Given the description of an element on the screen output the (x, y) to click on. 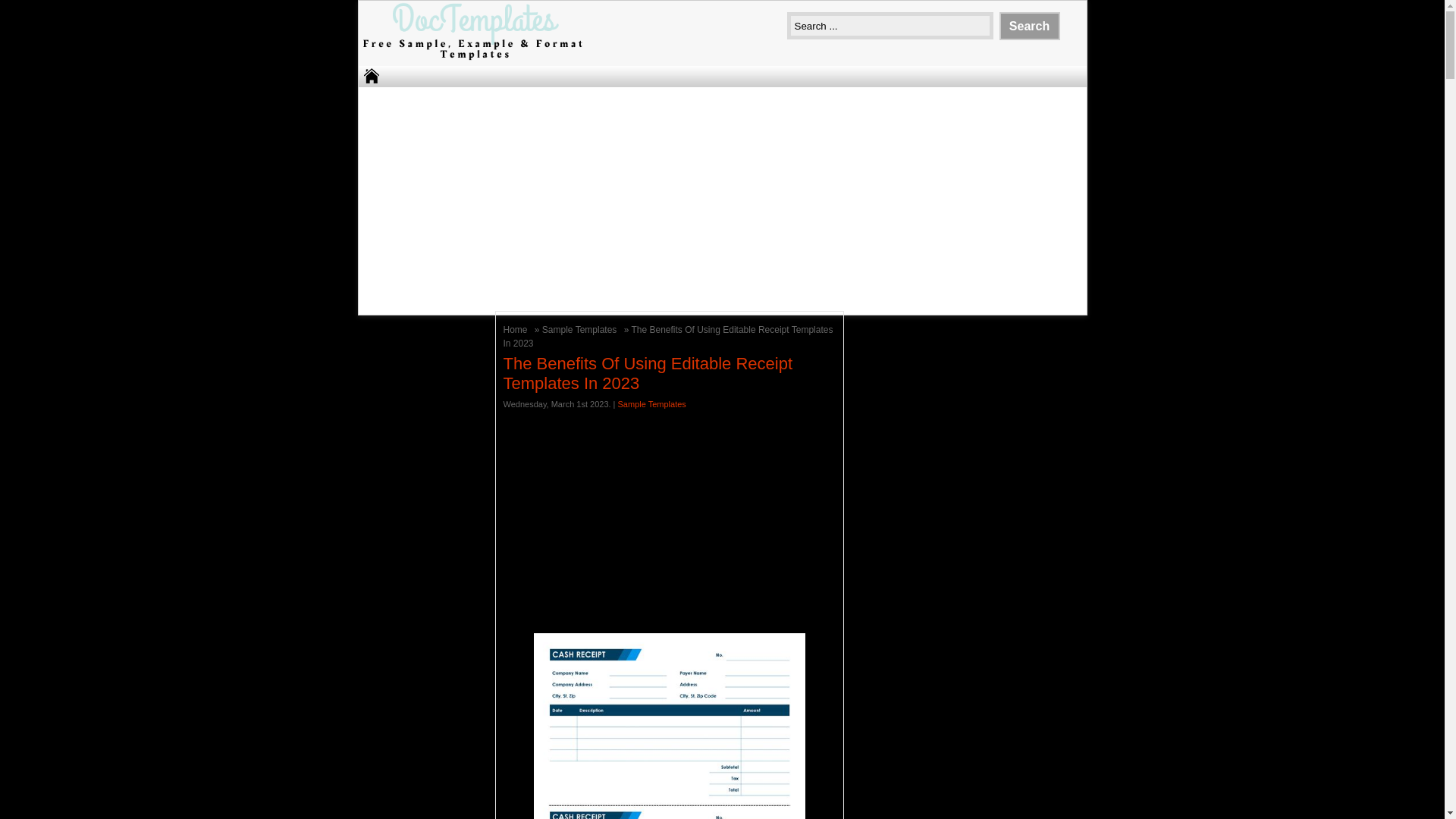
DocTemplates (471, 59)
Search (1028, 26)
Search (1028, 26)
Search ...  (889, 25)
Home (517, 329)
Sample Templates (581, 329)
Advertisement (669, 517)
Sample Templates (651, 403)
Sample Templates (581, 329)
